Given the description of an element on the screen output the (x, y) to click on. 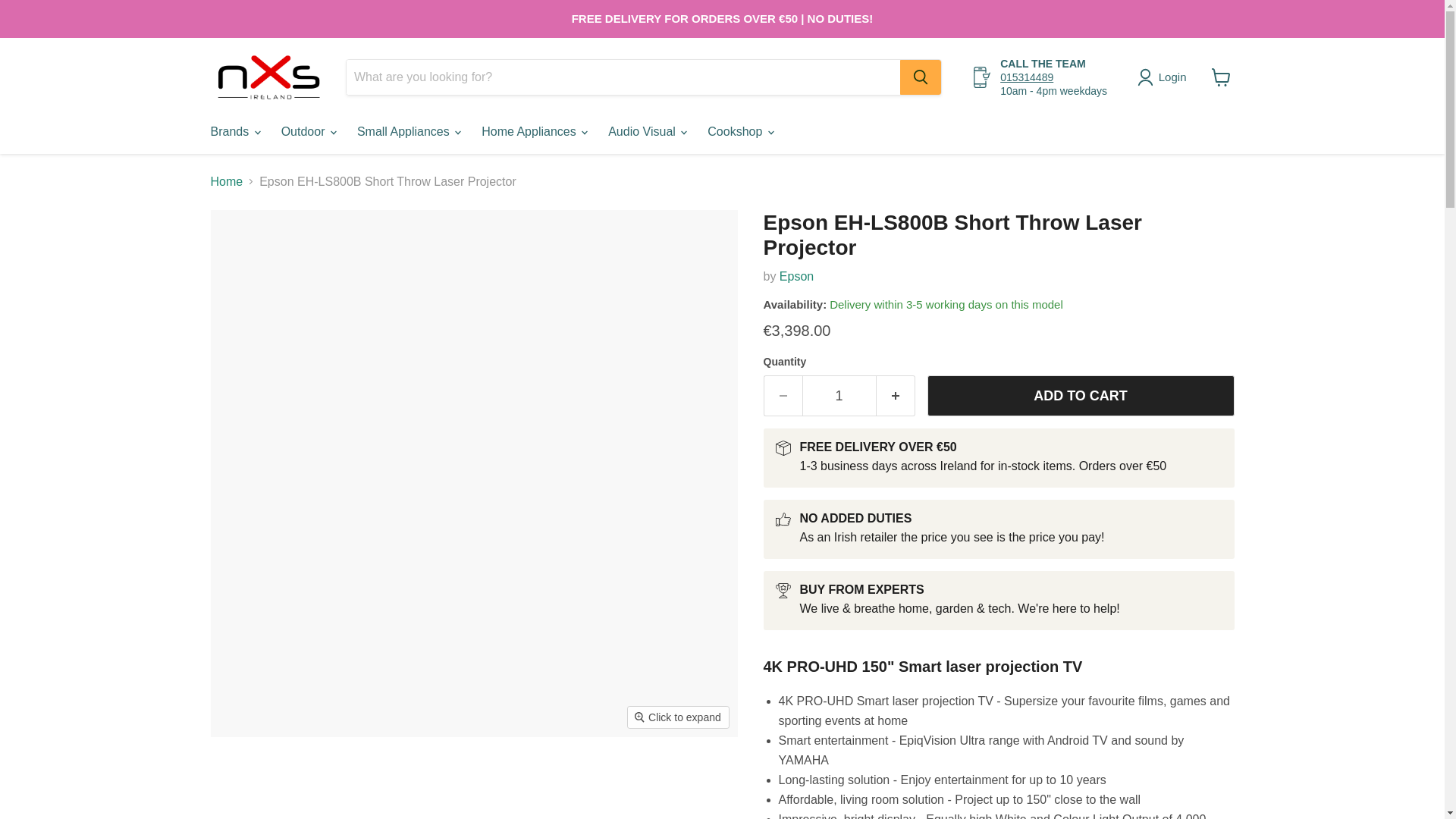
View cart (1221, 77)
Epson (795, 276)
1 (839, 395)
tel:015314489 (1026, 77)
Login (1164, 76)
015314489 (1026, 77)
